Given the description of an element on the screen output the (x, y) to click on. 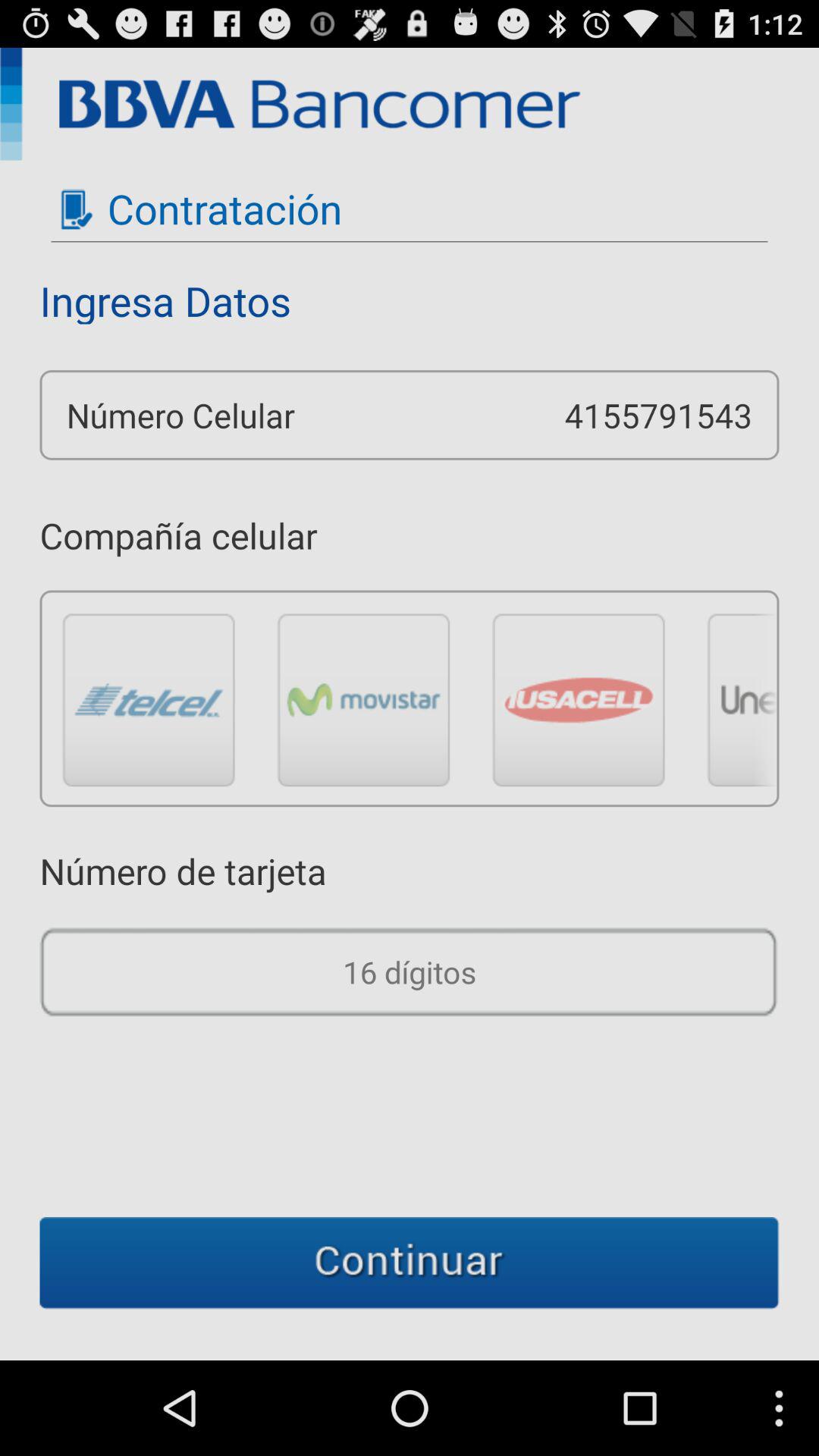
select cellular company (363, 699)
